Given the description of an element on the screen output the (x, y) to click on. 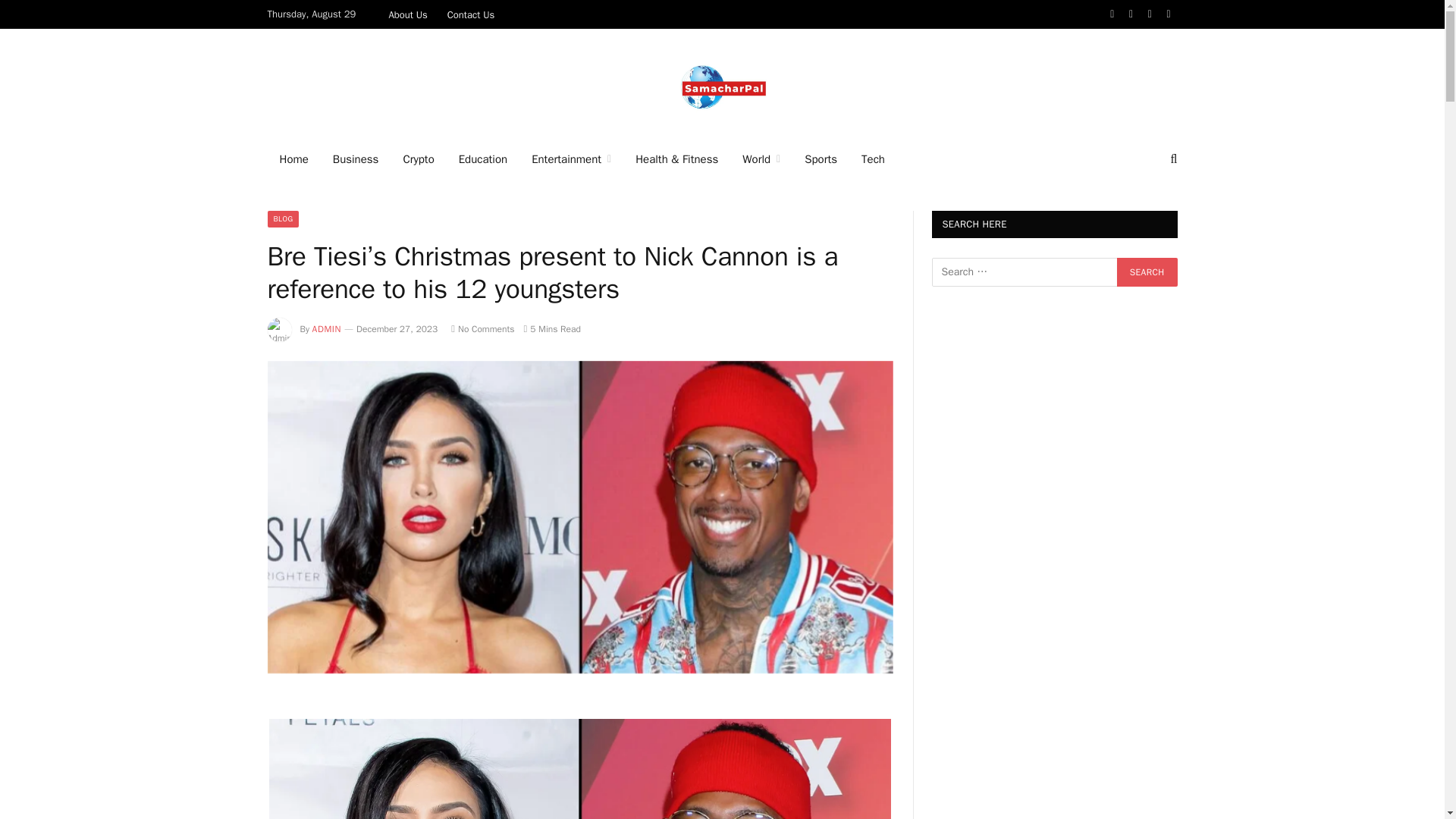
About Us (407, 14)
BLOG (282, 218)
Search (1146, 271)
Contact Us (471, 14)
Search (1146, 271)
World (761, 159)
Education (482, 159)
Crypto (417, 159)
Sports (820, 159)
Home (293, 159)
